Given the description of an element on the screen output the (x, y) to click on. 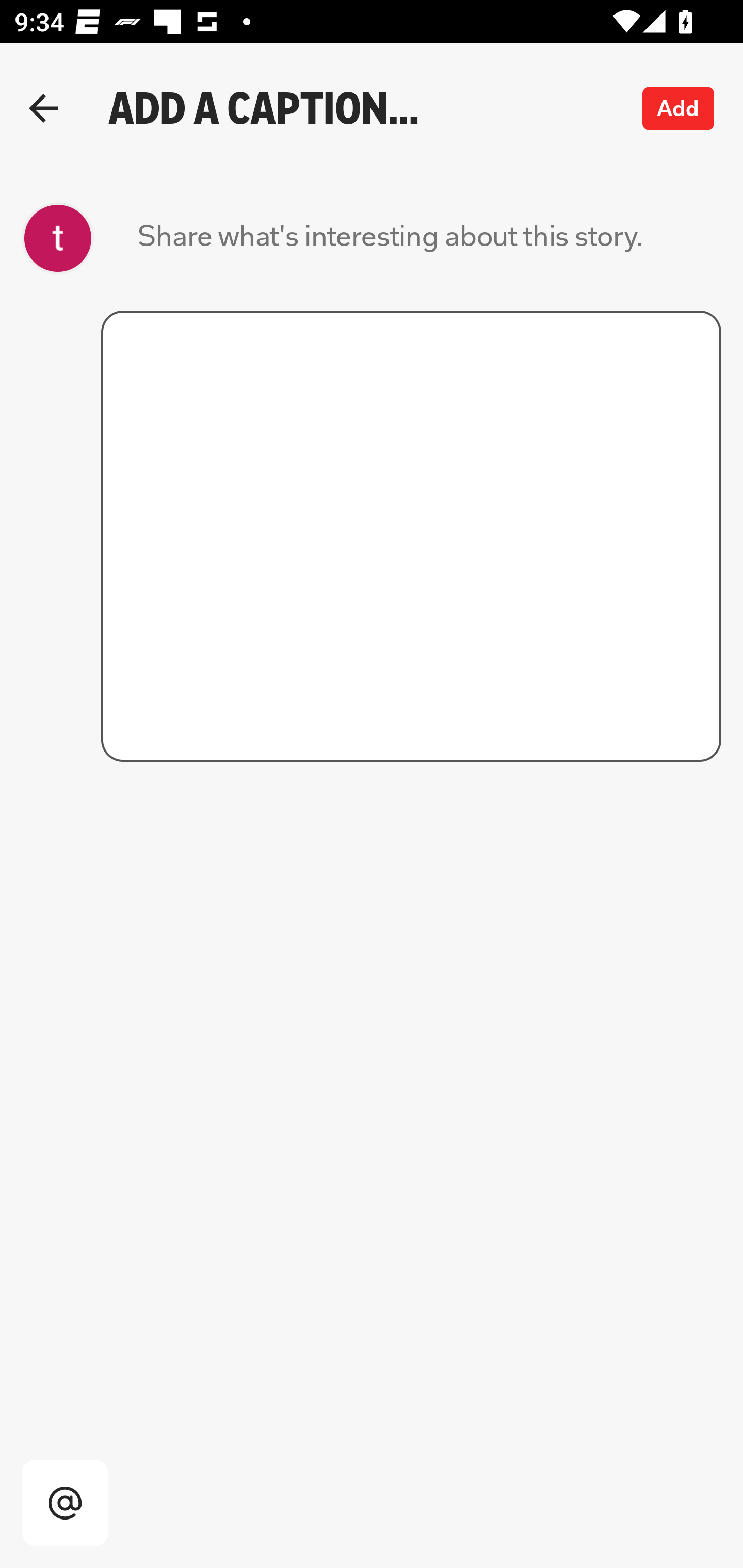
Add (678, 108)
Share what's interesting about this story. (390, 238)
